Given the description of an element on the screen output the (x, y) to click on. 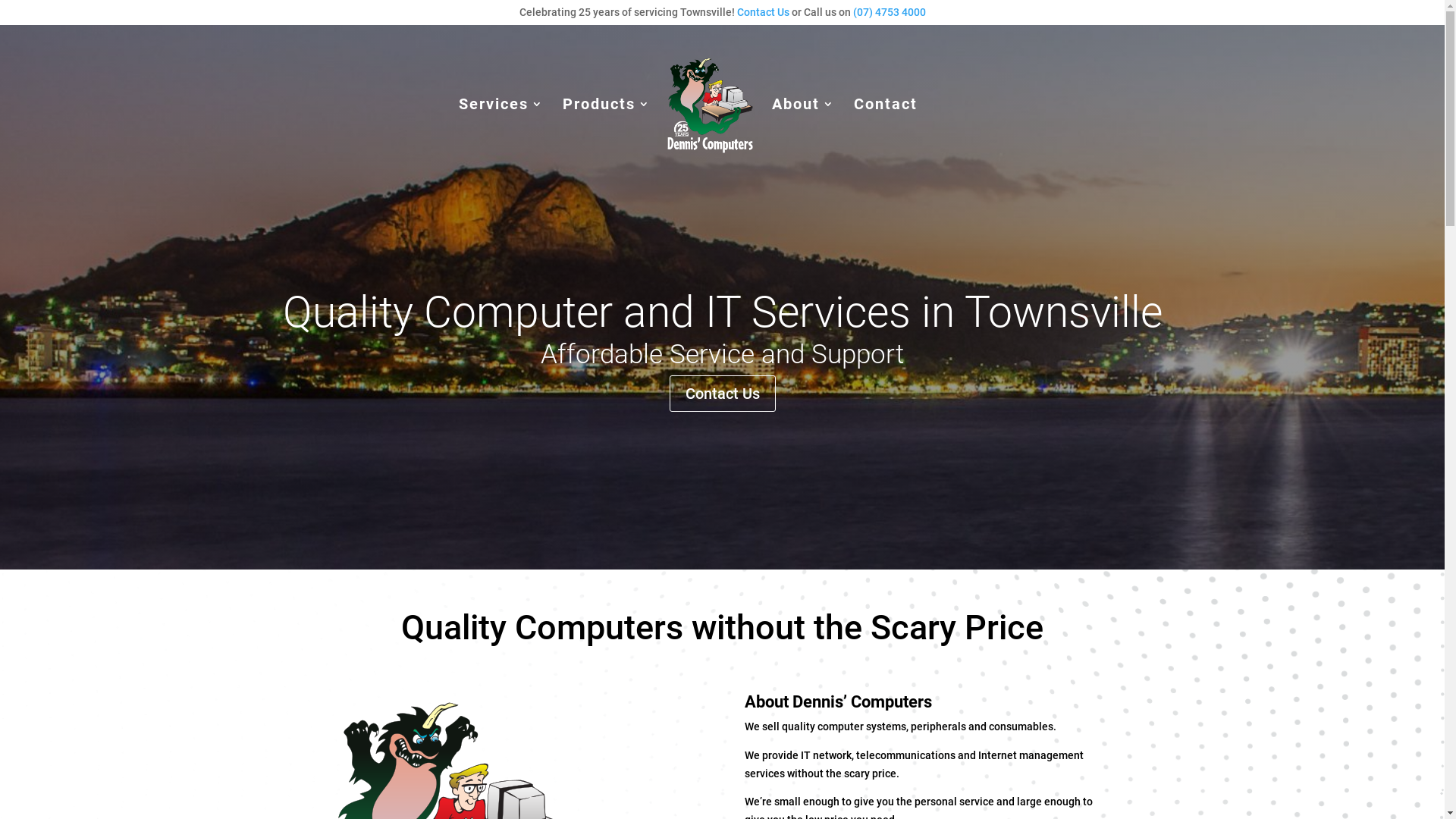
About Element type: text (802, 124)
Services Element type: text (500, 124)
Contact Element type: text (885, 124)
(07) 4753 4000 Element type: text (888, 12)
Products Element type: text (606, 124)
Contact Us Element type: text (721, 393)
Contact Us Element type: text (763, 12)
